Given the description of an element on the screen output the (x, y) to click on. 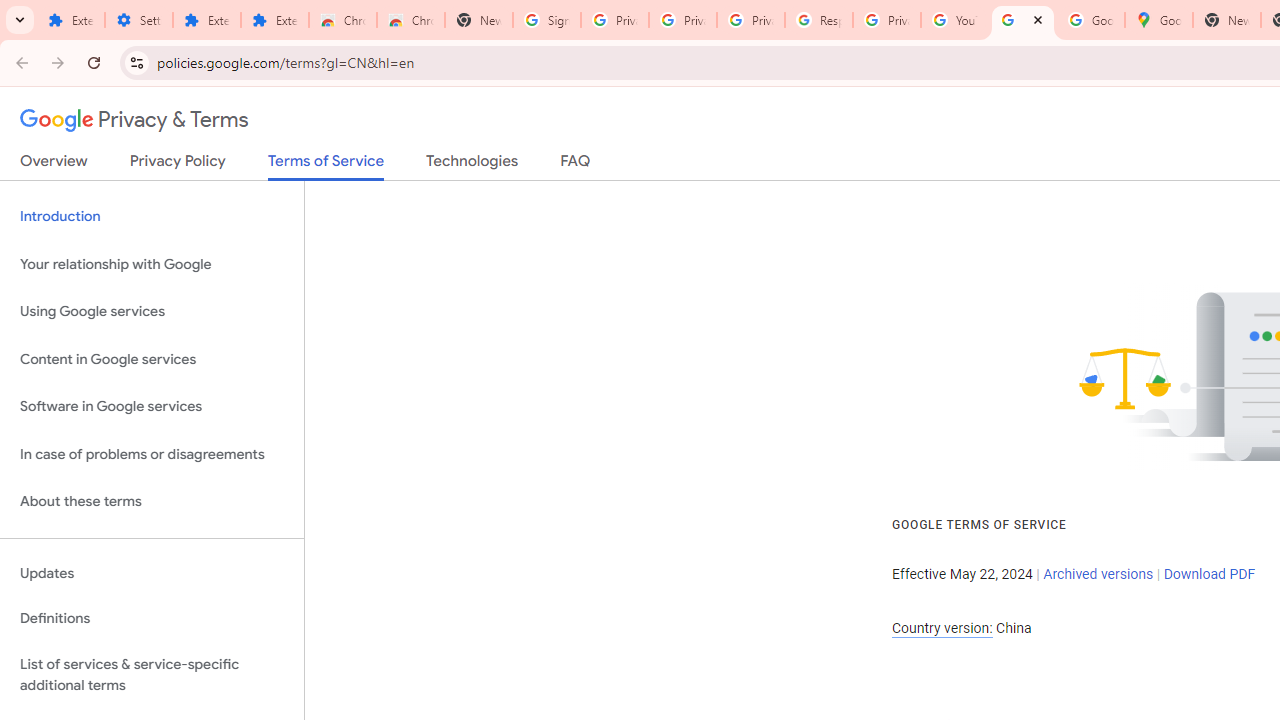
Download PDF (1209, 574)
Sign in - Google Accounts (547, 20)
Definitions (152, 619)
Google Maps (1158, 20)
